Given the description of an element on the screen output the (x, y) to click on. 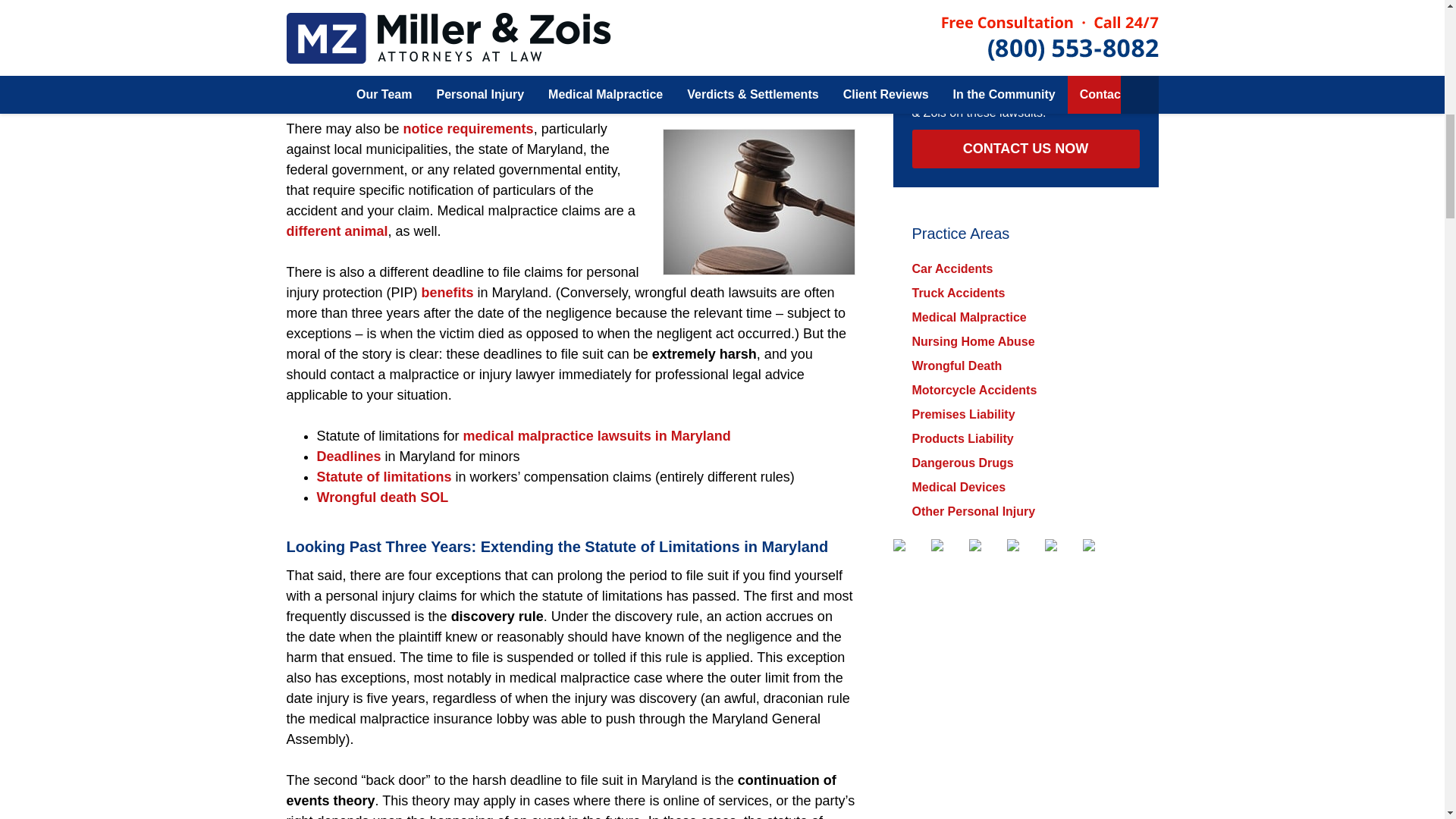
Instagram (1099, 544)
Justia (1024, 544)
YouTube (1061, 544)
Facebook (910, 544)
Twitter (948, 544)
LinkedIn (986, 544)
